Given the description of an element on the screen output the (x, y) to click on. 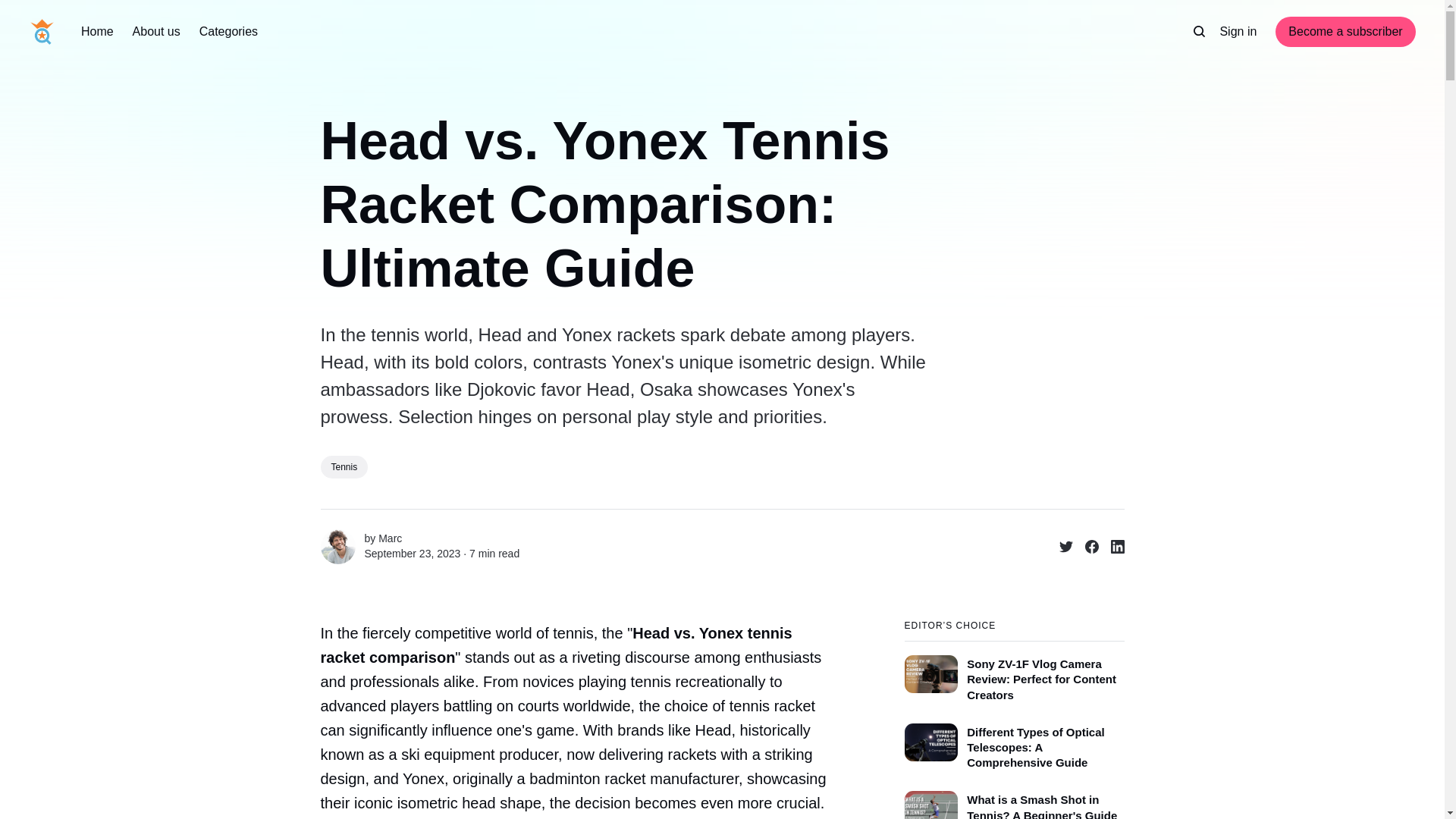
Become a subscriber (1345, 31)
Categories (228, 31)
Sony ZV-1F Vlog Camera Review: Perfect for Content Creators (1014, 671)
Different Types of Optical Telescopes: A Comprehensive Guide (1014, 742)
Marc (389, 538)
Home (97, 31)
Tennis (344, 466)
Sign in (1238, 31)
Marc (337, 546)
About us (156, 31)
What is a Smash Shot in Tennis? A Beginner's Guide (1014, 800)
